Given the description of an element on the screen output the (x, y) to click on. 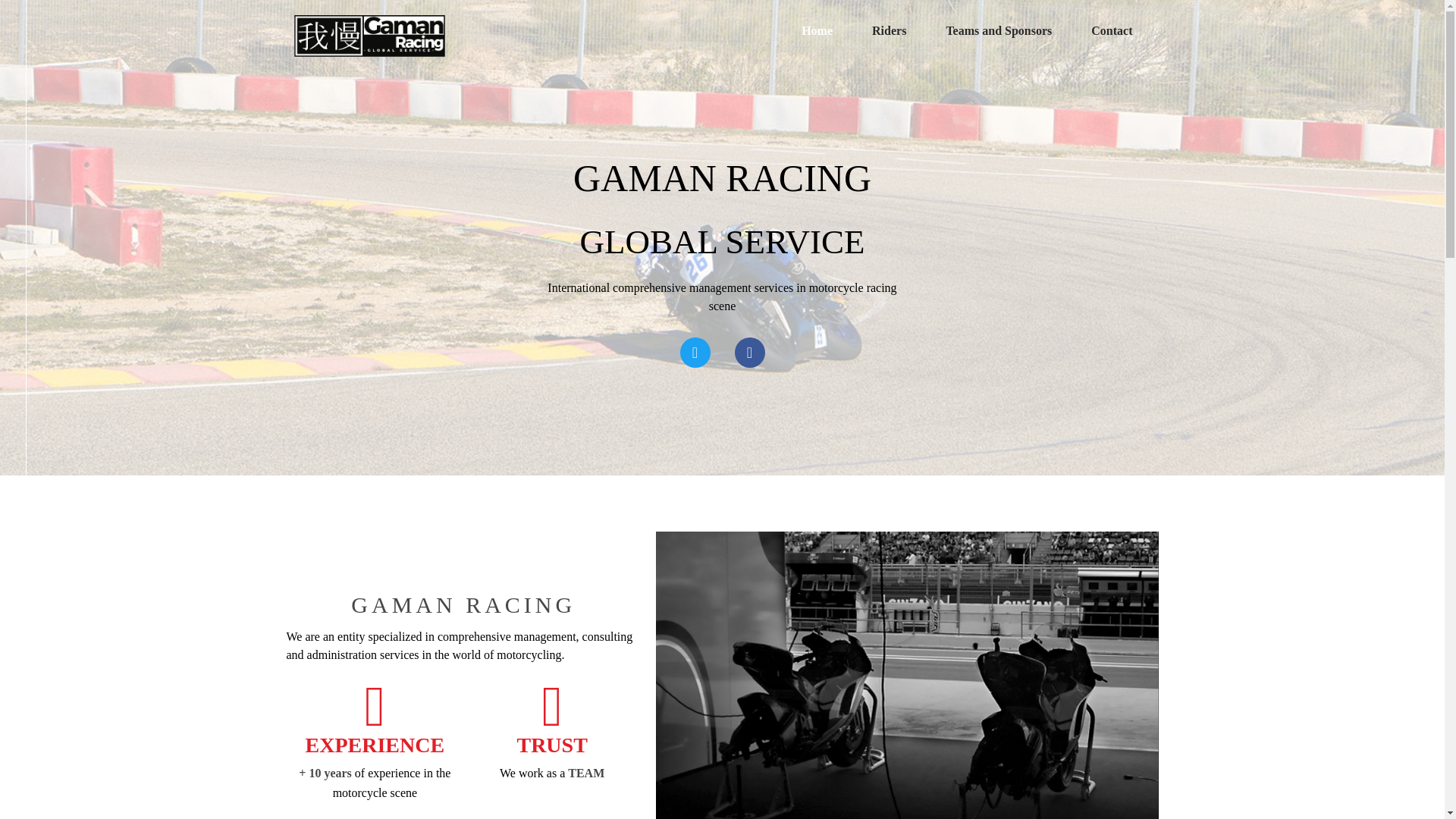
Teams and Sponsors (998, 30)
cropped-Gaman-logo-1.jpg (369, 35)
Riders (888, 30)
Contact (1111, 30)
Home (816, 30)
